Given the description of an element on the screen output the (x, y) to click on. 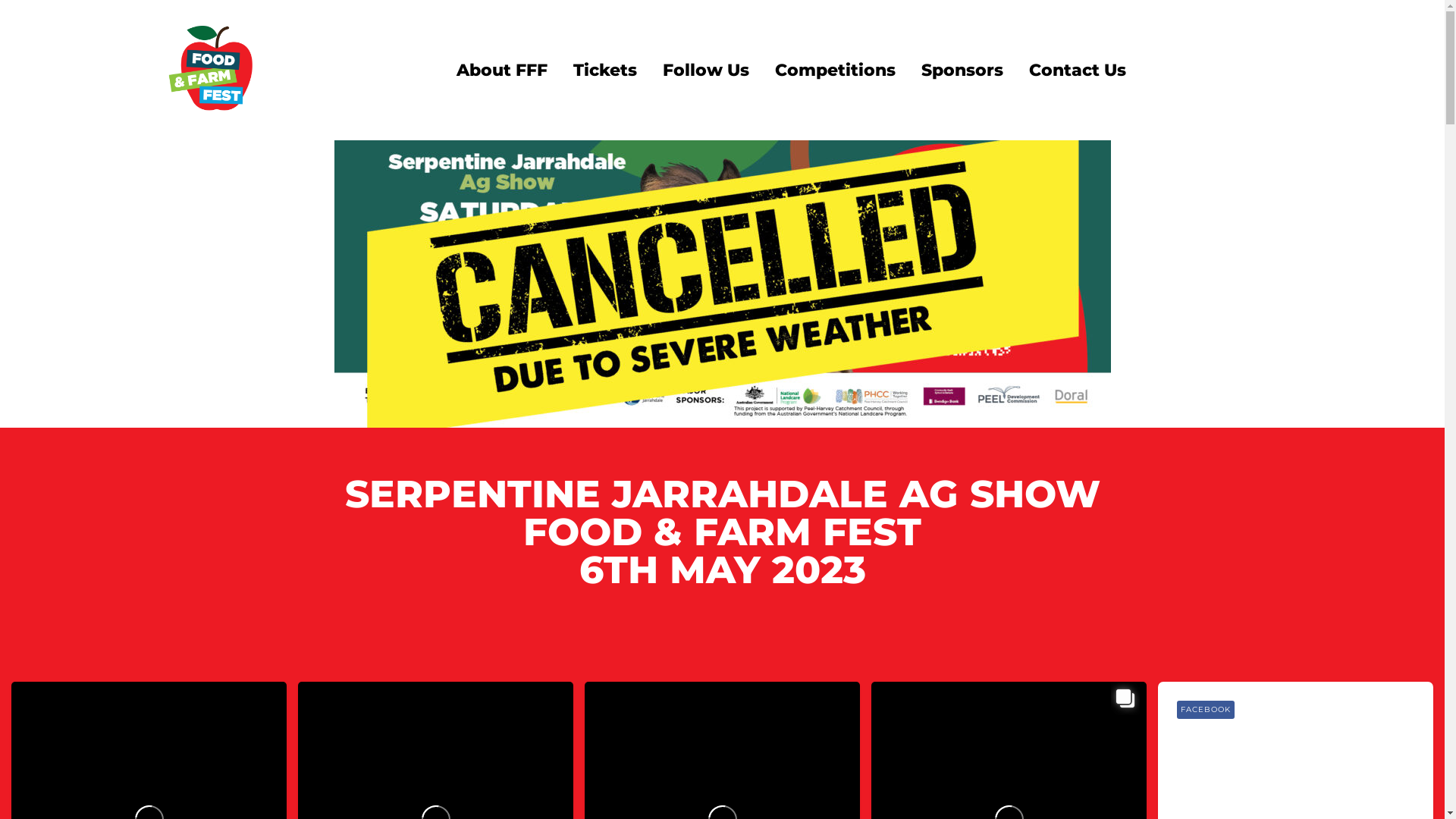
Sponsors Element type: text (962, 69)
Contact Us Element type: text (1077, 69)
Follow Us Element type: text (705, 69)
Competitions Element type: text (834, 69)
Tickets Element type: text (604, 69)
About FFF Element type: text (500, 69)
